Given the description of an element on the screen output the (x, y) to click on. 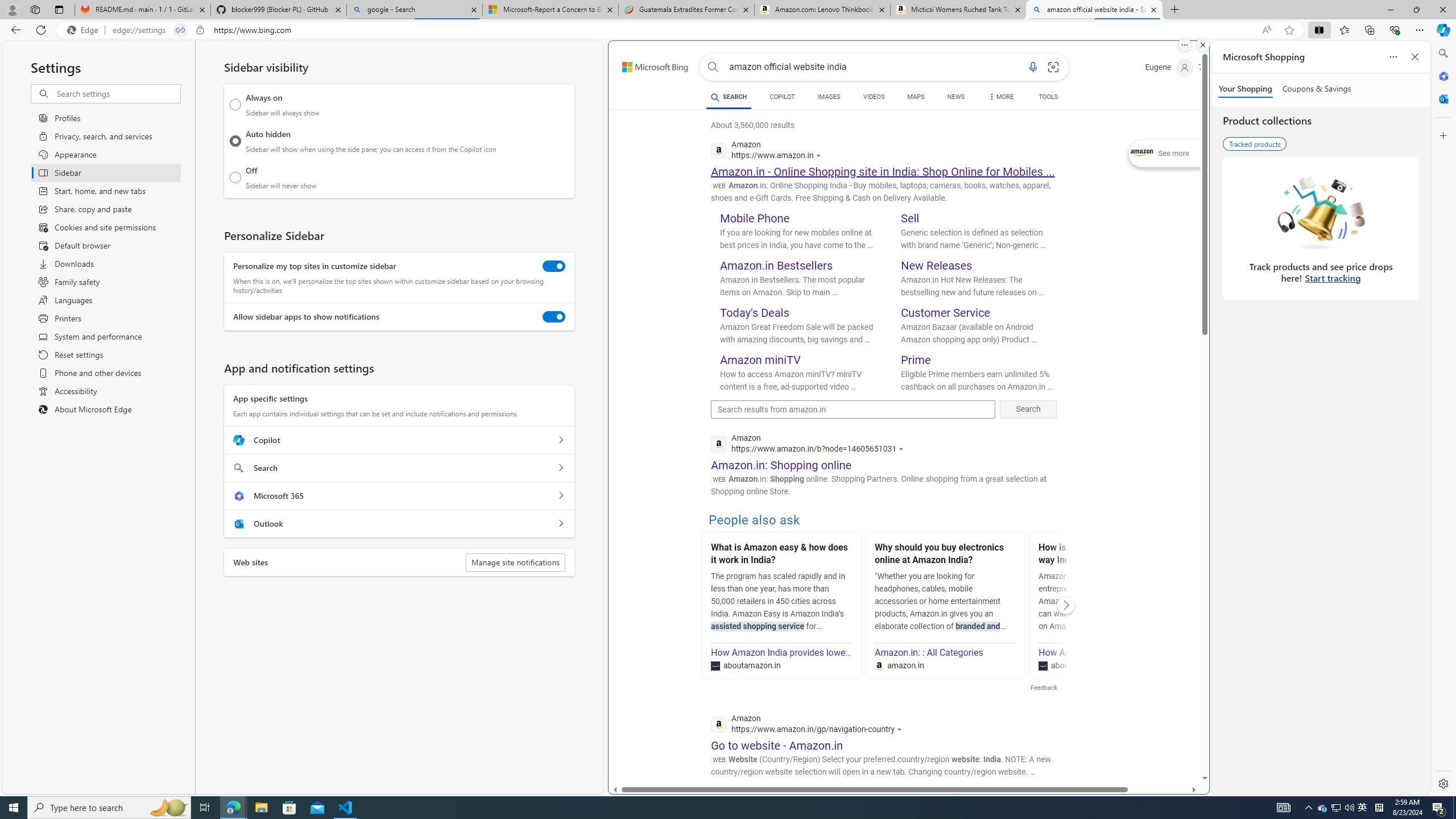
AutomationID: mfa_root (1161, 743)
Search using voice (1032, 66)
Search settings (117, 93)
Off Sidebar will never show (235, 177)
Always on Sidebar will always show (235, 104)
More options. (1183, 45)
